Given the description of an element on the screen output the (x, y) to click on. 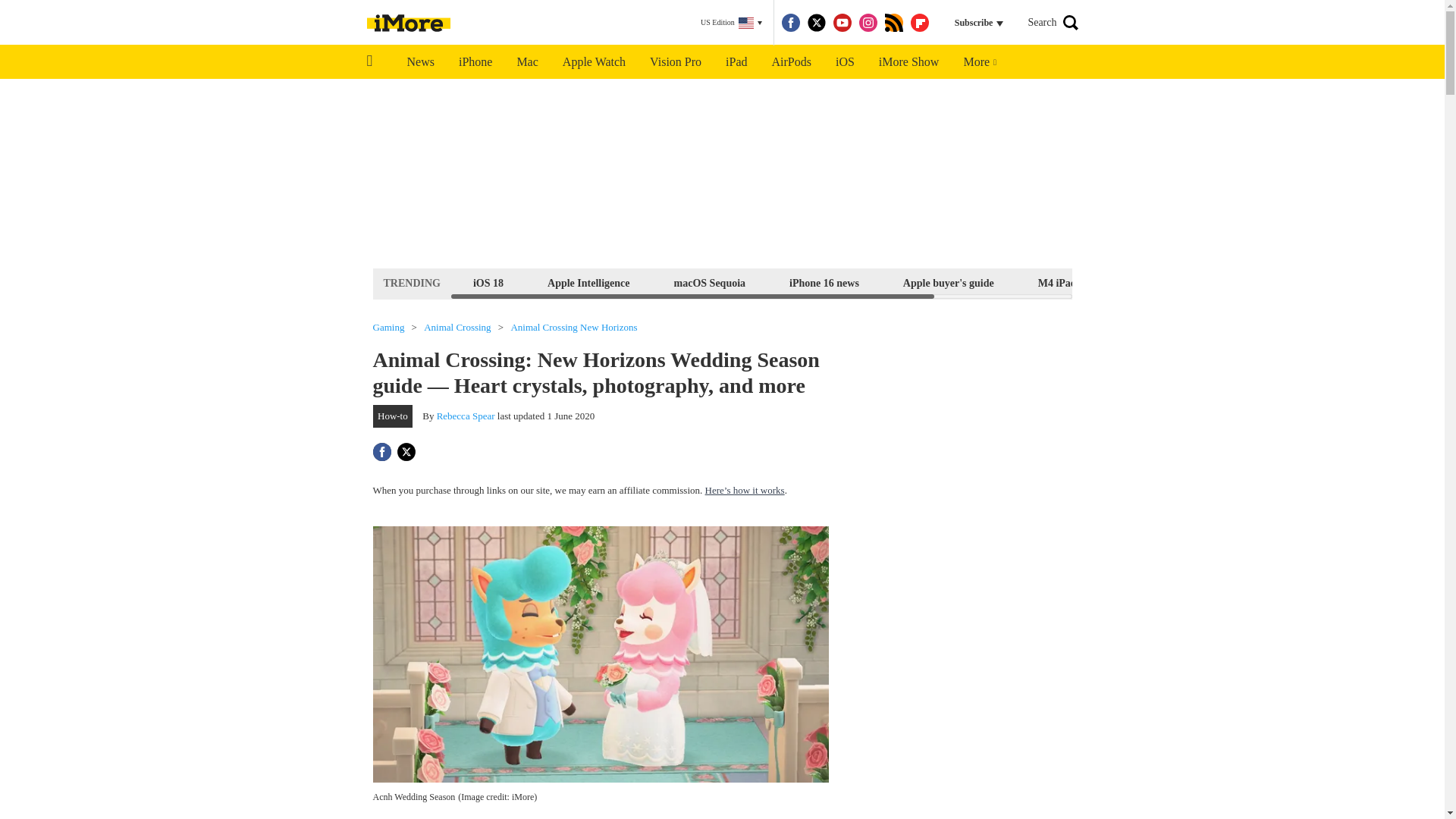
Mac (526, 61)
News (419, 61)
AirPods (792, 61)
iPad (735, 61)
Apple Watch (593, 61)
iMore Show (909, 61)
US Edition (731, 22)
Vision Pro (675, 61)
iPhone (474, 61)
iOS (845, 61)
